Given the description of an element on the screen output the (x, y) to click on. 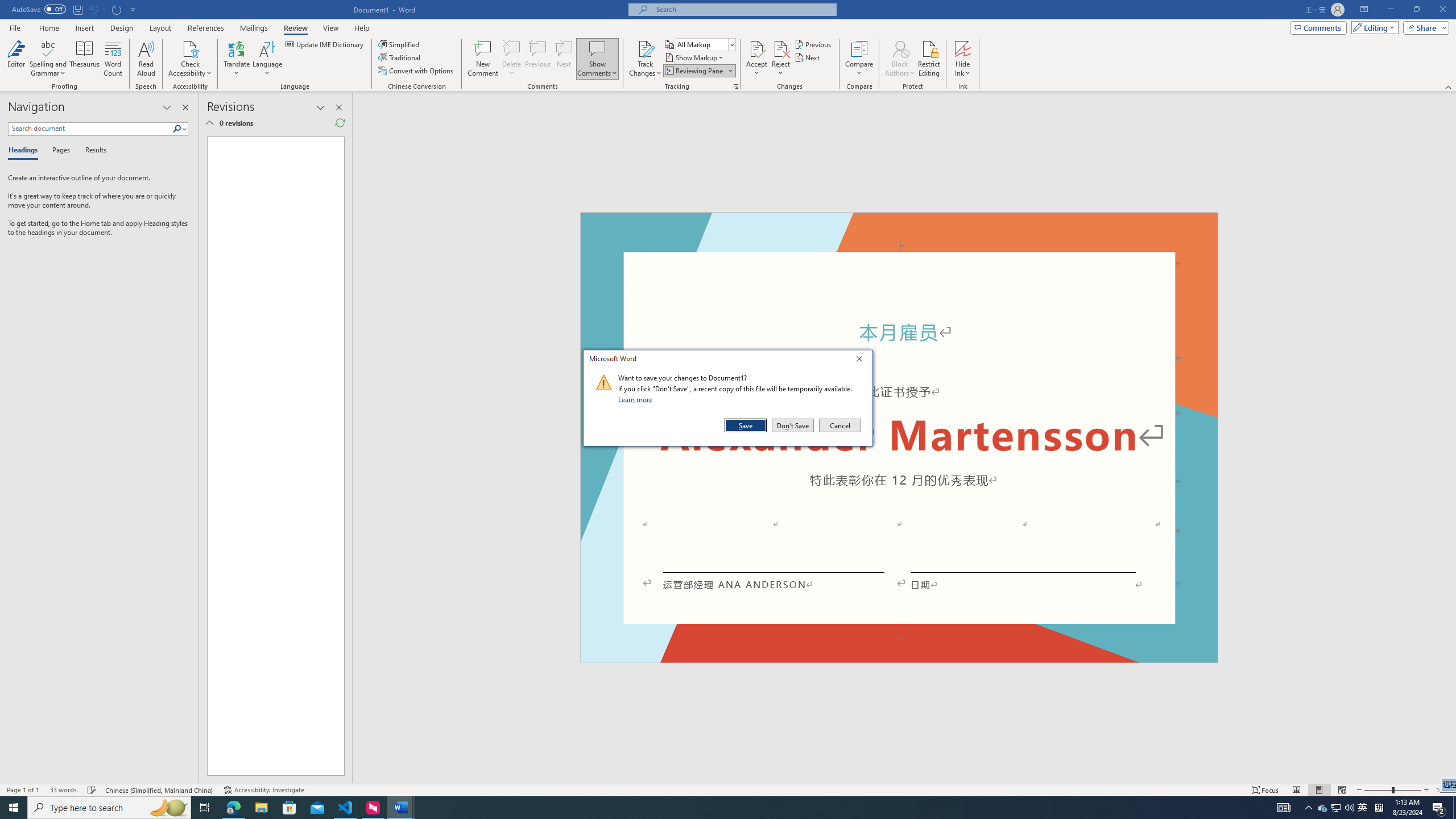
Hide Ink (962, 48)
Block Authors (900, 58)
Running applications (700, 807)
Display for Review (1362, 807)
